Given the description of an element on the screen output the (x, y) to click on. 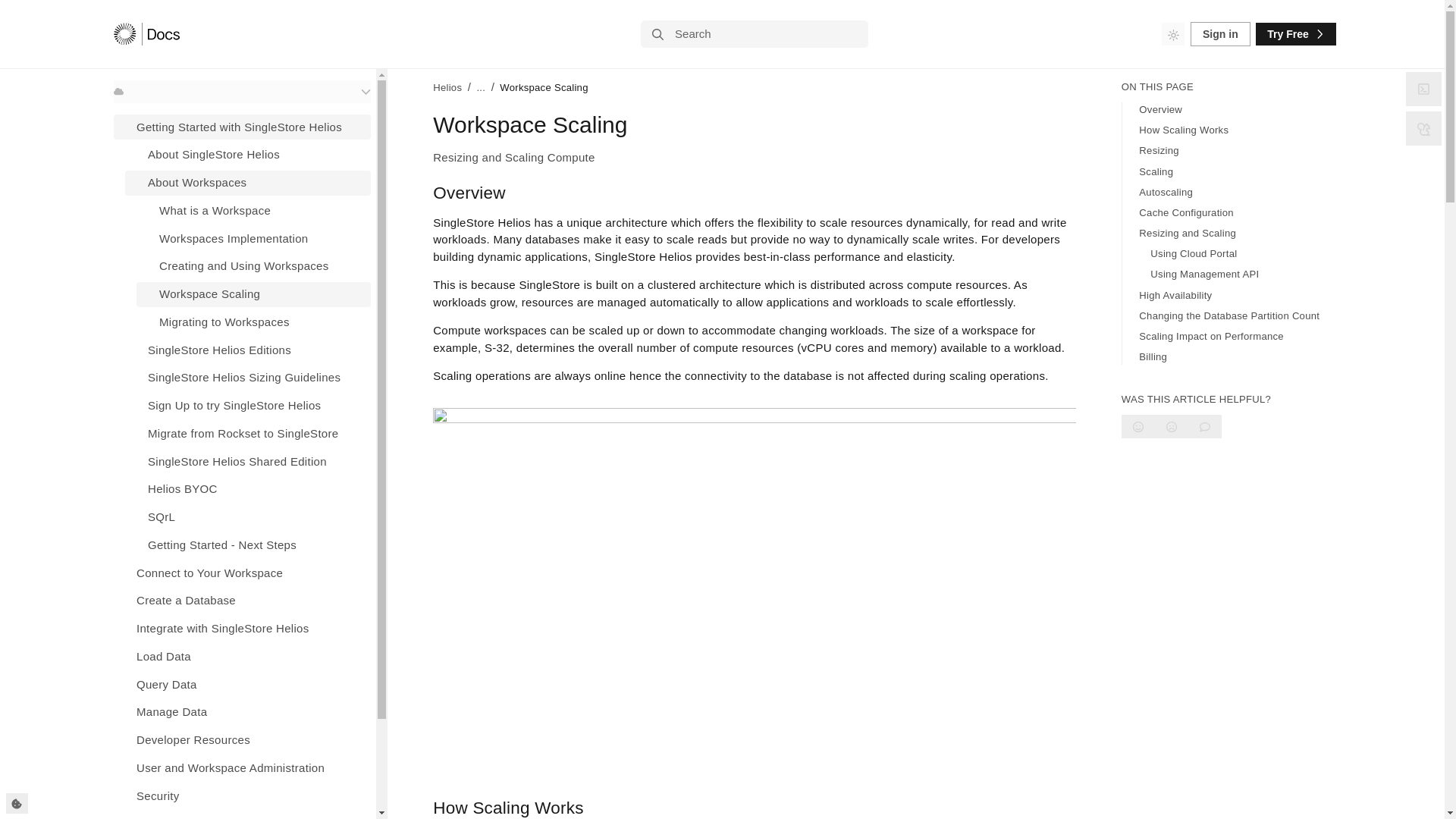
Manage Data (242, 712)
About SingleStore Helios (248, 154)
SQrL (248, 517)
What is a Workspace (253, 210)
Load Data (242, 656)
Sign in (1220, 33)
Reference (242, 815)
Getting Started with SingleStore Helios (242, 126)
Integrate with SingleStore Helios (242, 627)
Security (242, 795)
Search (753, 33)
User and Workspace Administration (242, 767)
Helios BYOC (248, 489)
Workspaces Implementation (253, 238)
Sign Up to try SingleStore Helios (248, 405)
